Given the description of an element on the screen output the (x, y) to click on. 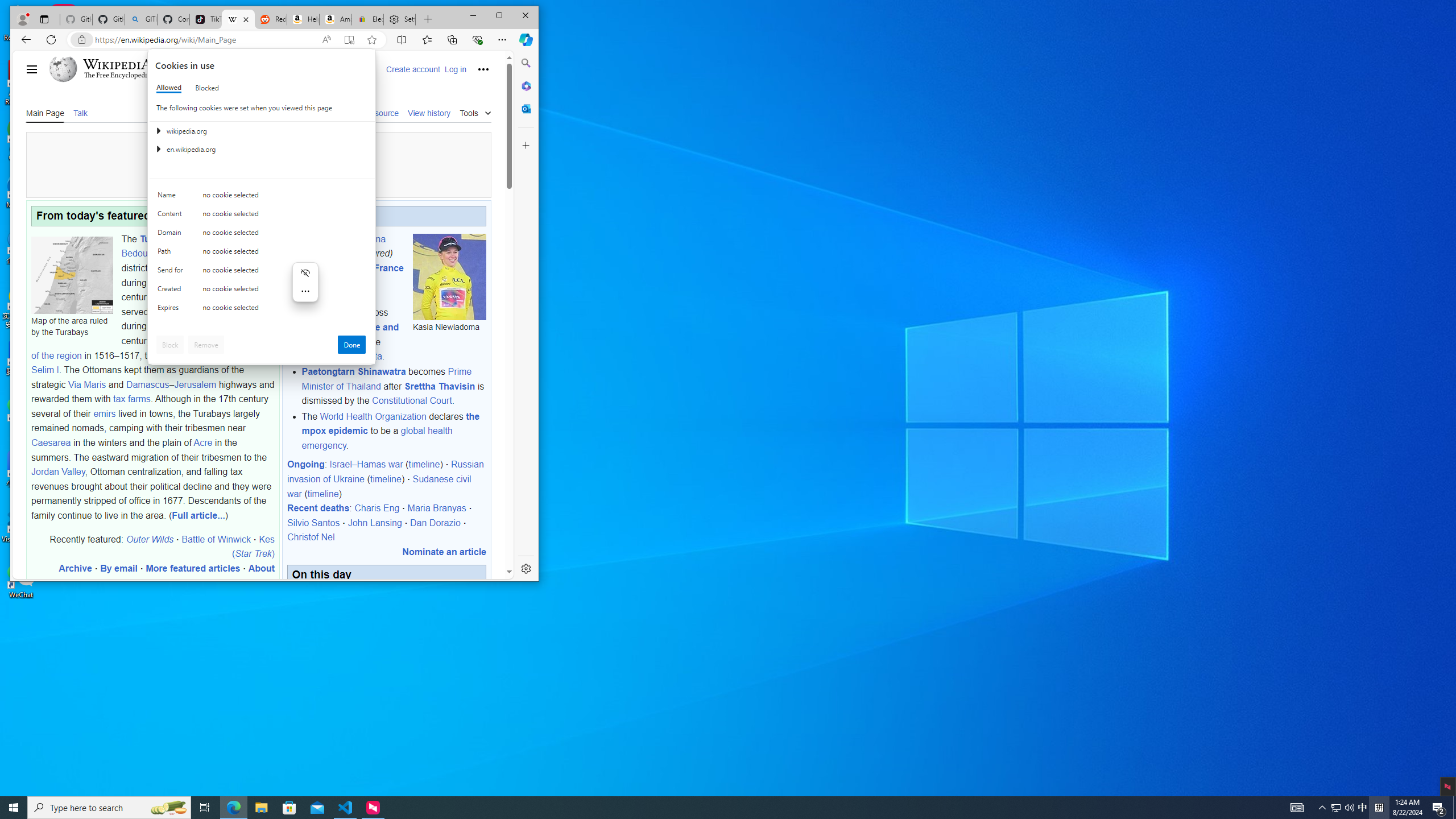
no cookie selected (284, 310)
Created (172, 291)
Domain (172, 235)
Hide menu (304, 272)
Action Center, 2 new notifications (1439, 807)
Remove (205, 344)
Microsoft Edge - 1 running window (1362, 807)
Name (233, 807)
Visual Studio Code - 1 running window (172, 197)
Mini menu on text selection (345, 807)
Search highlights icon opens search home window (305, 289)
AutomationID: 4105 (167, 807)
